Given the description of an element on the screen output the (x, y) to click on. 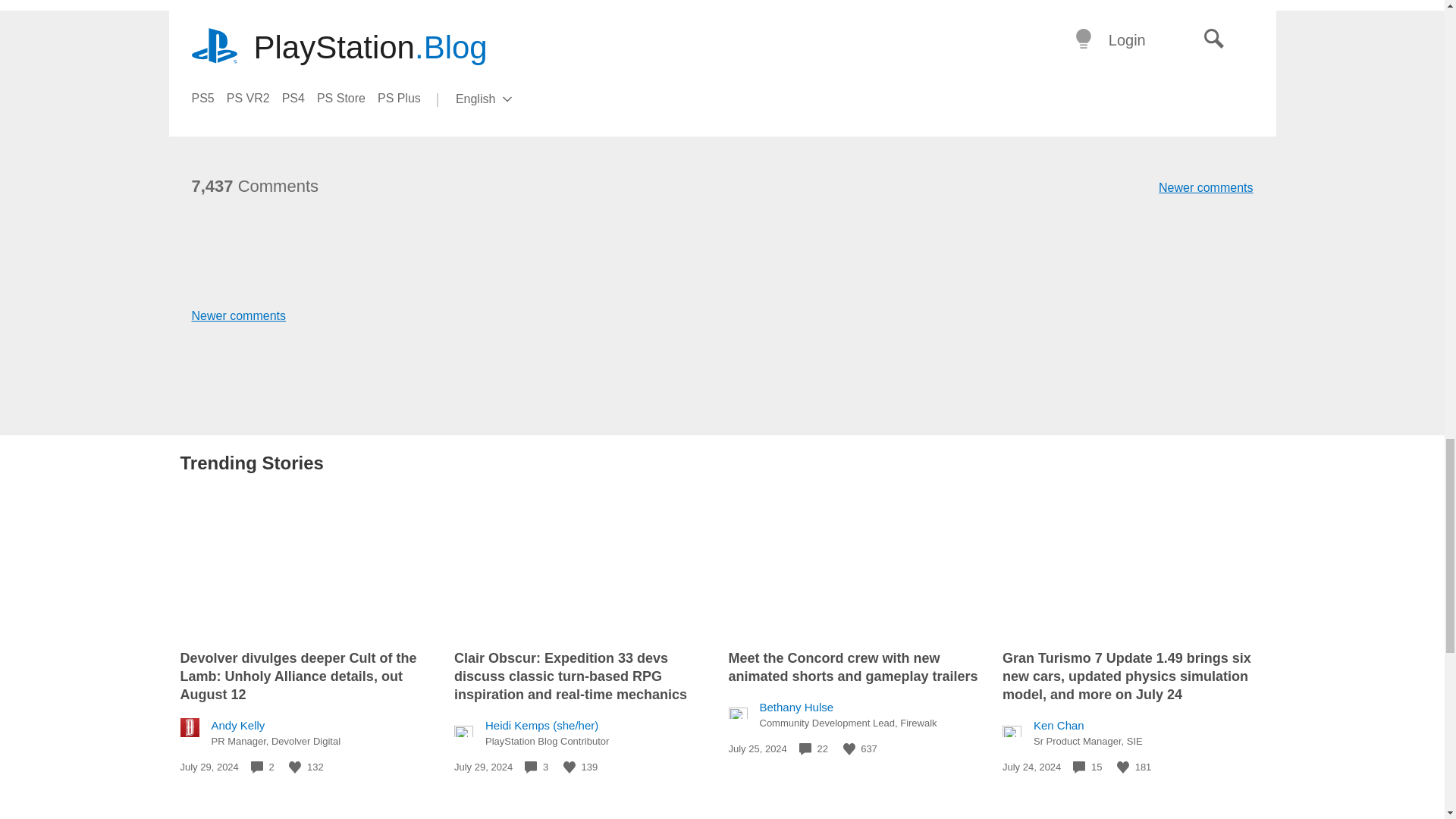
Like this (569, 767)
Like this (849, 748)
Like this (294, 767)
Like this (1122, 767)
